Given the description of an element on the screen output the (x, y) to click on. 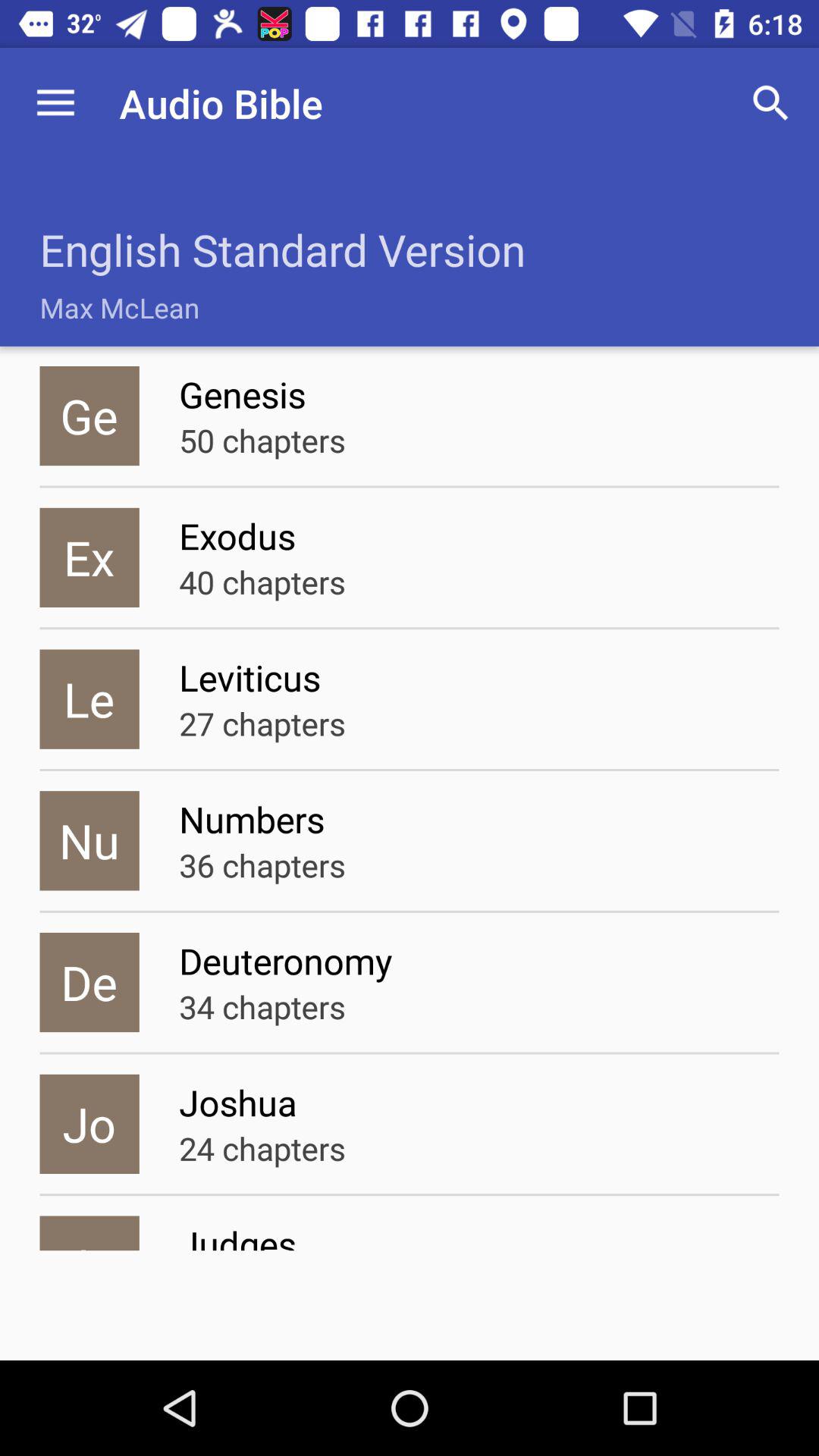
jump to the numbers icon (479, 819)
